Given the description of an element on the screen output the (x, y) to click on. 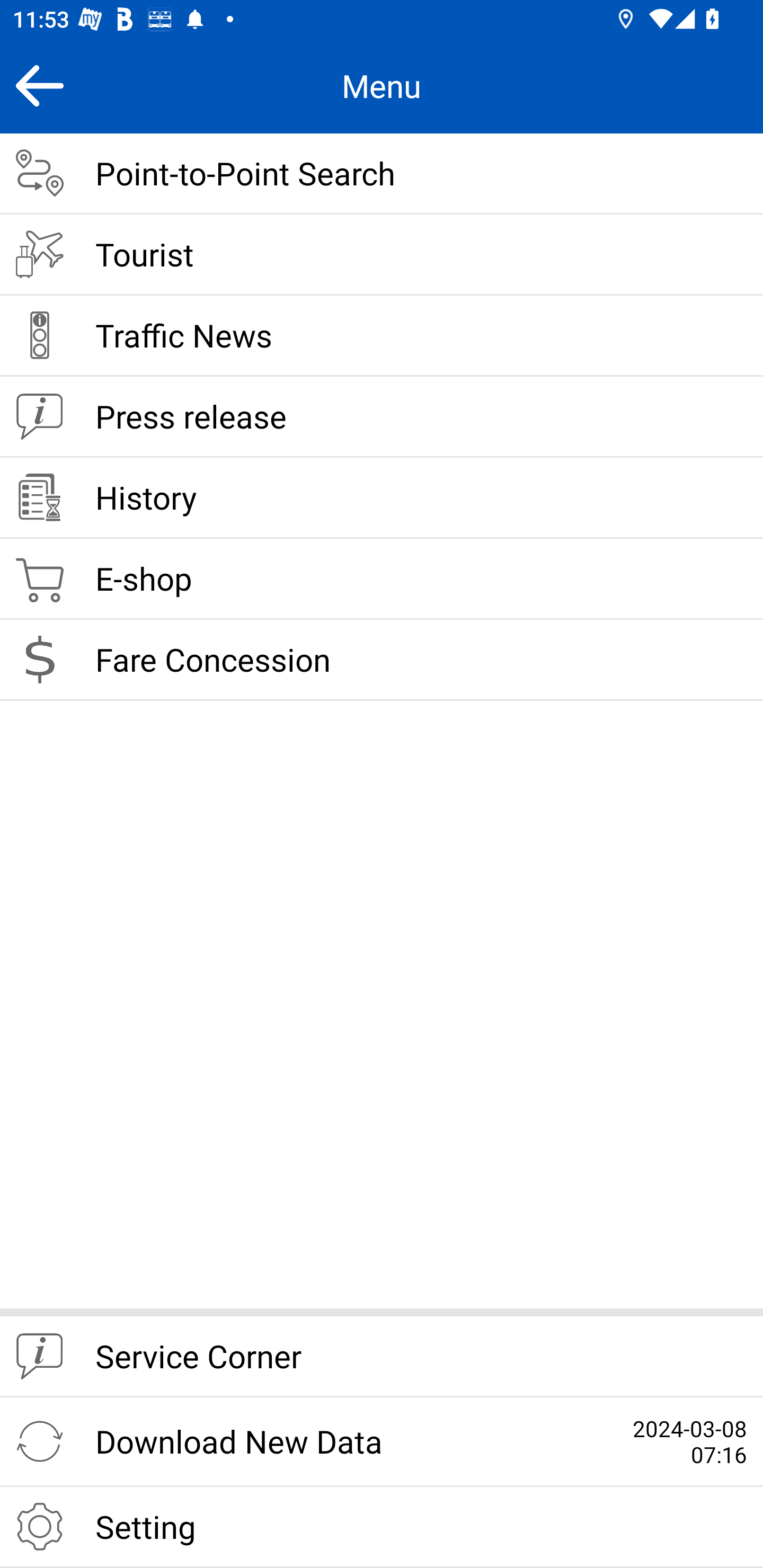
Back (39, 85)
Point-to-Point Search (381, 173)
Tourist (381, 255)
Traffic News (381, 336)
Press release (381, 416)
History (381, 498)
E-shop (381, 579)
Fare Concession (381, 659)
Service Corner (381, 1357)
Download New Data 2024-03-08
07:16 (381, 1441)
Setting (381, 1527)
